Given the description of an element on the screen output the (x, y) to click on. 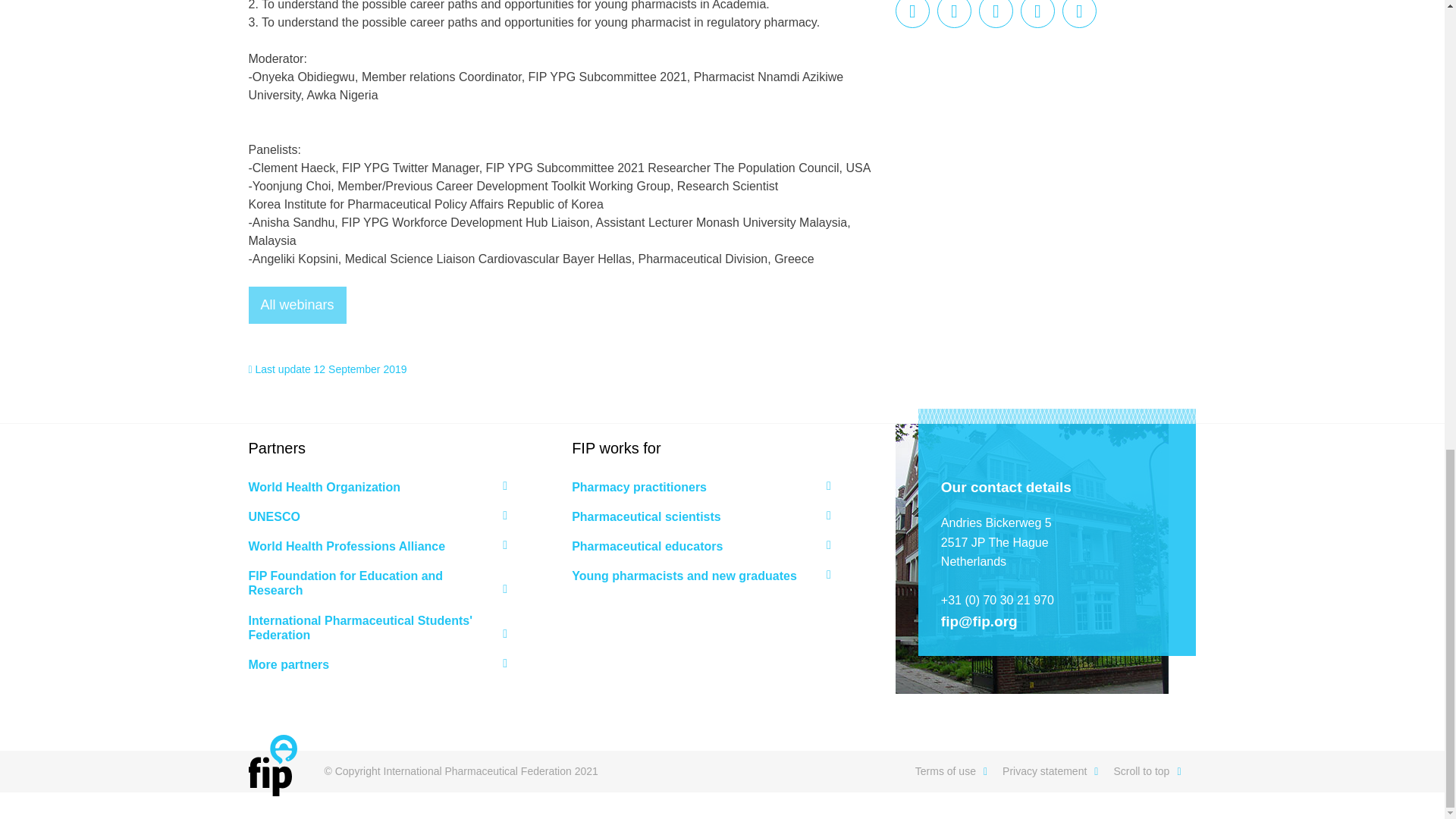
All webinars (297, 304)
